Given the description of an element on the screen output the (x, y) to click on. 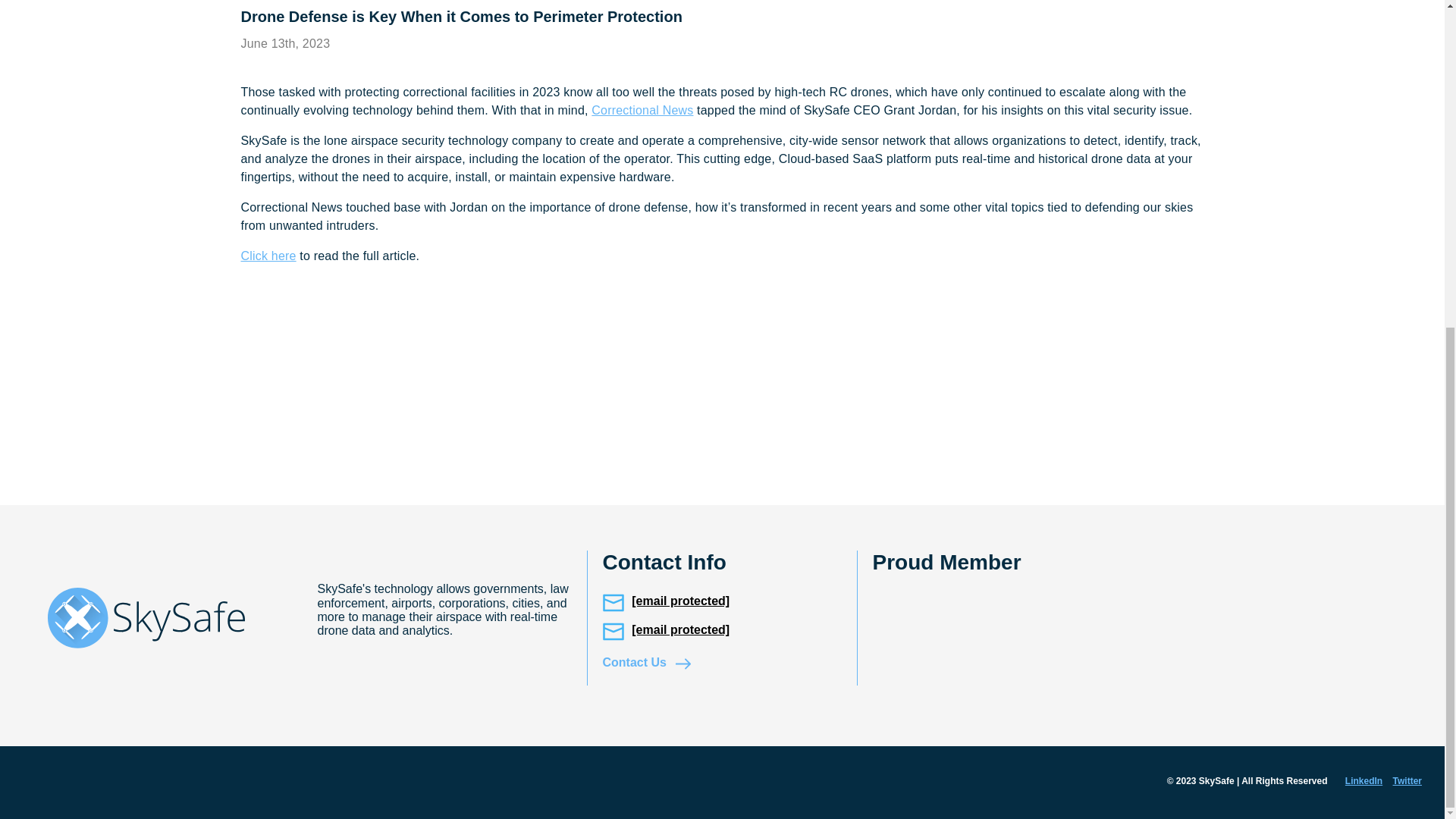
Correctional News (642, 110)
Twitter (1407, 781)
Click here (269, 255)
Contact Us (646, 662)
LinkedIn (1355, 781)
